Given the description of an element on the screen output the (x, y) to click on. 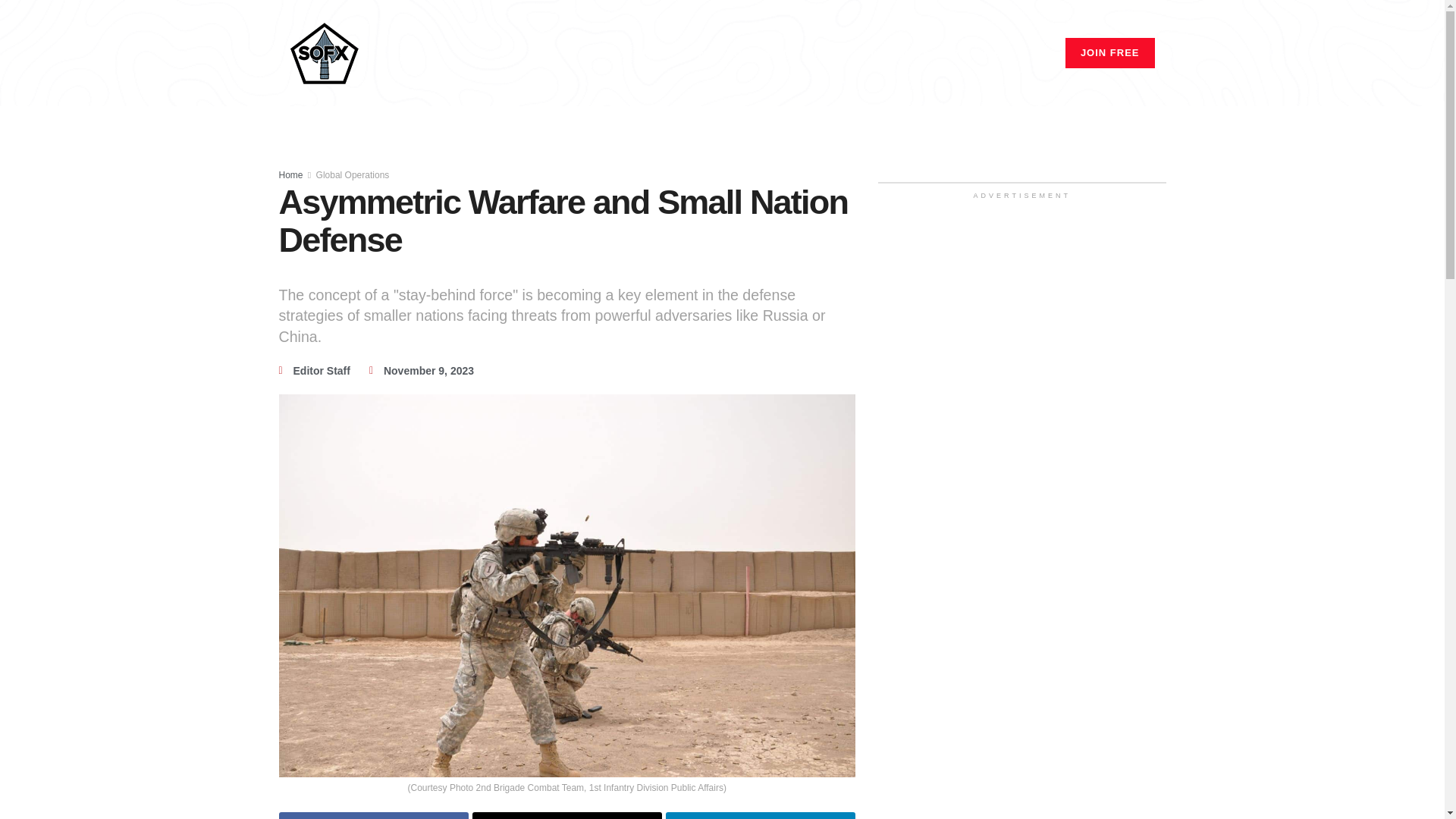
News (700, 52)
Intelligence (902, 52)
Community (765, 52)
Resources (980, 52)
Market (833, 52)
Home (651, 52)
